Given the description of an element on the screen output the (x, y) to click on. 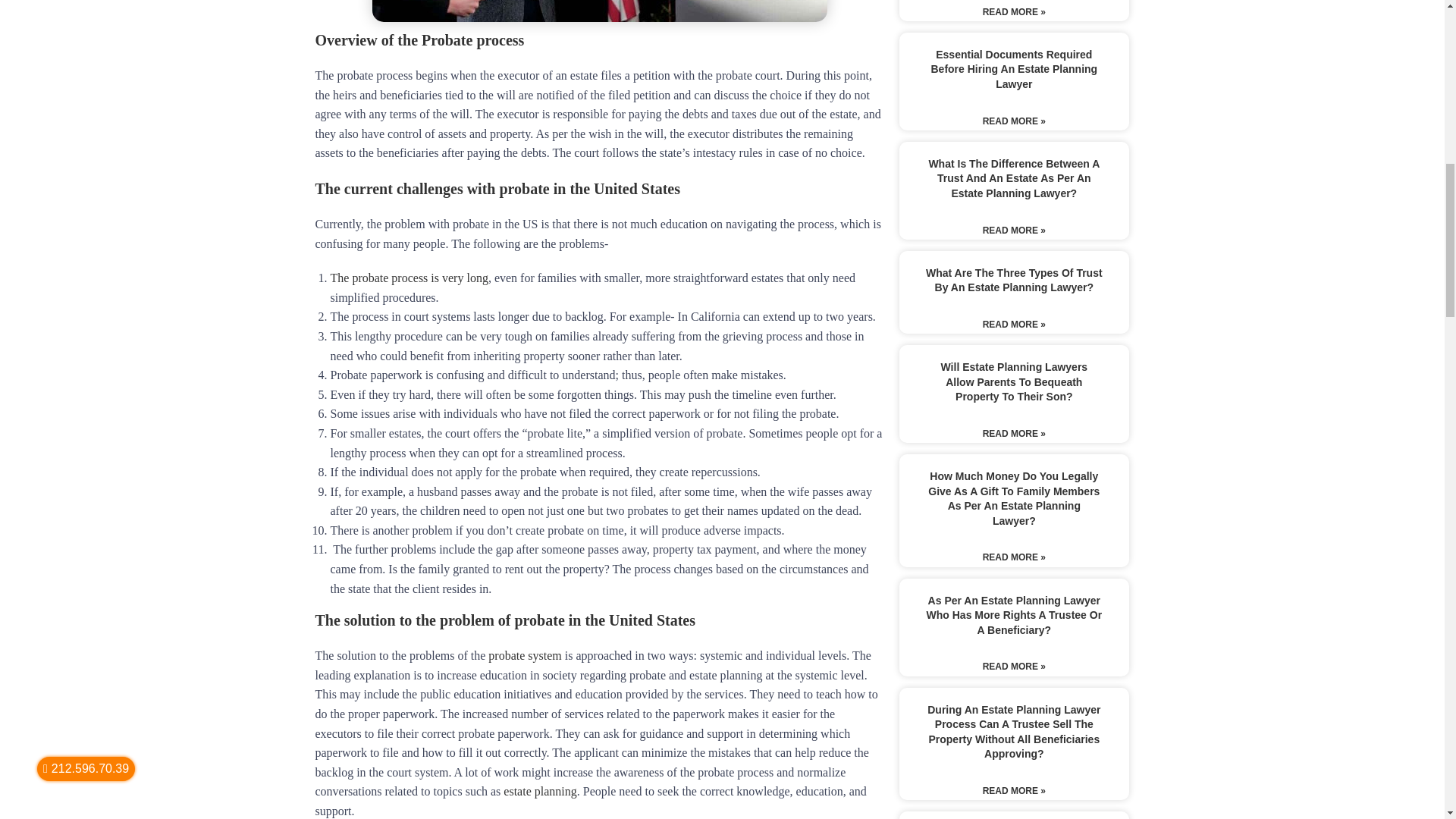
The probate process is very long (408, 277)
probate system (523, 655)
estate planning (539, 790)
